Given the description of an element on the screen output the (x, y) to click on. 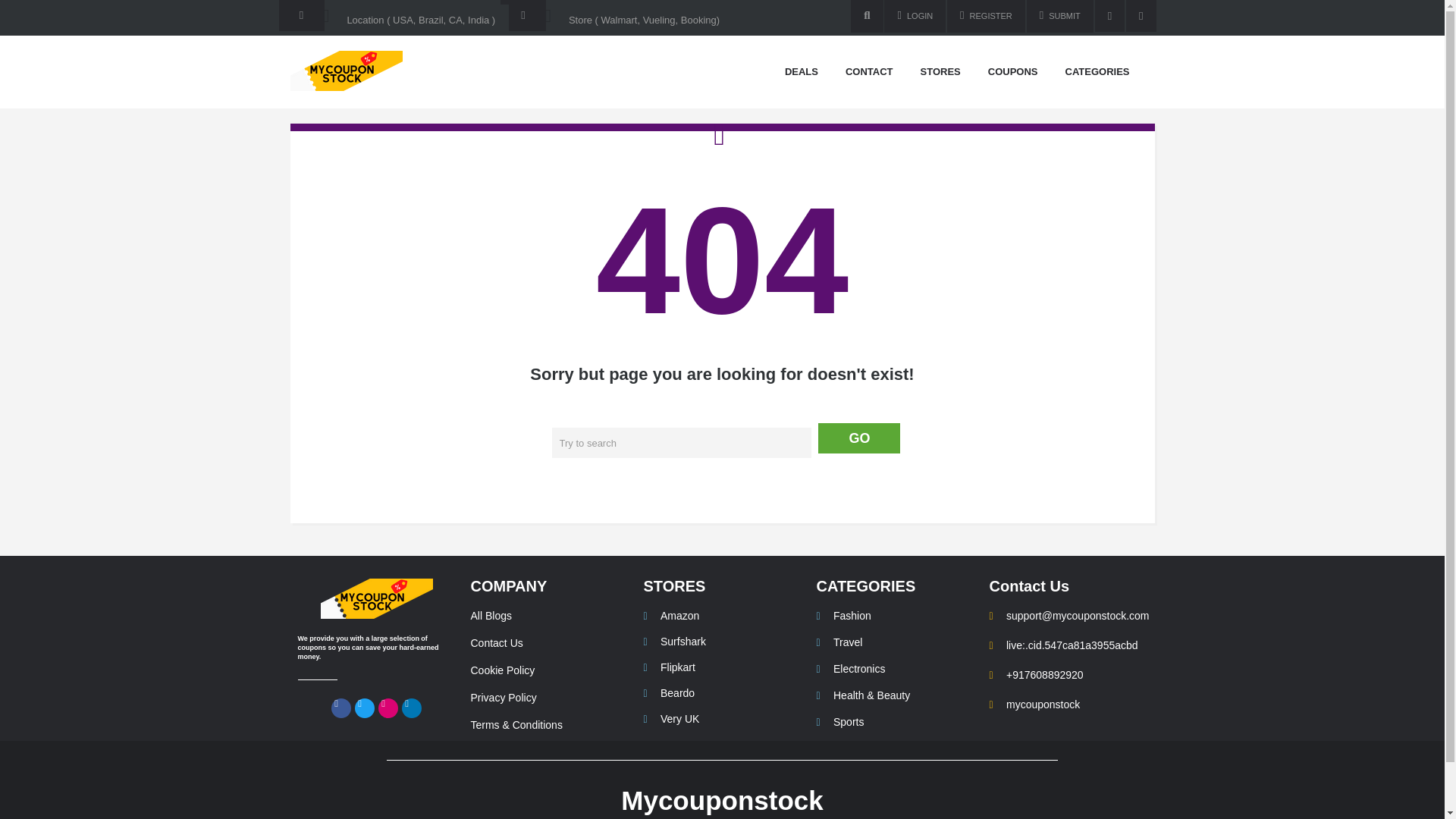
Stores (940, 71)
COMPANY (508, 586)
GO (858, 438)
SUBMIT (1059, 16)
Contact Us (548, 643)
CATEGORIES (865, 586)
Cookie Policy (548, 670)
Contact (869, 71)
STORES (673, 586)
All Blogs (548, 616)
